Given the description of an element on the screen output the (x, y) to click on. 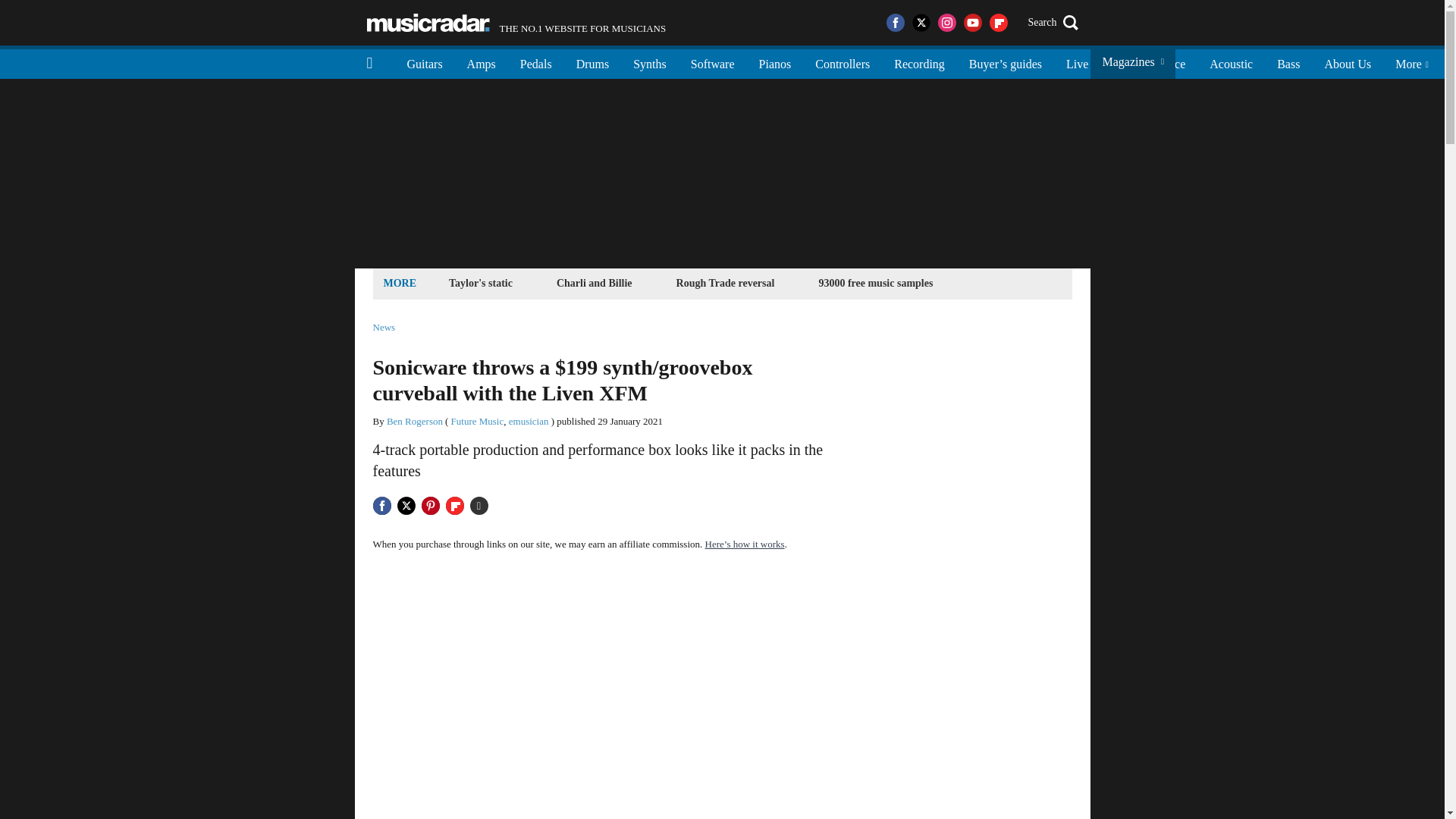
Amps (481, 61)
Advice (1167, 61)
Rough Trade reversal (725, 282)
Pianos (774, 61)
Live (1077, 61)
Bass (1288, 61)
Guitars (424, 61)
DJ (1119, 61)
93000 free music samples (874, 282)
Acoustic (1230, 61)
